Given the description of an element on the screen output the (x, y) to click on. 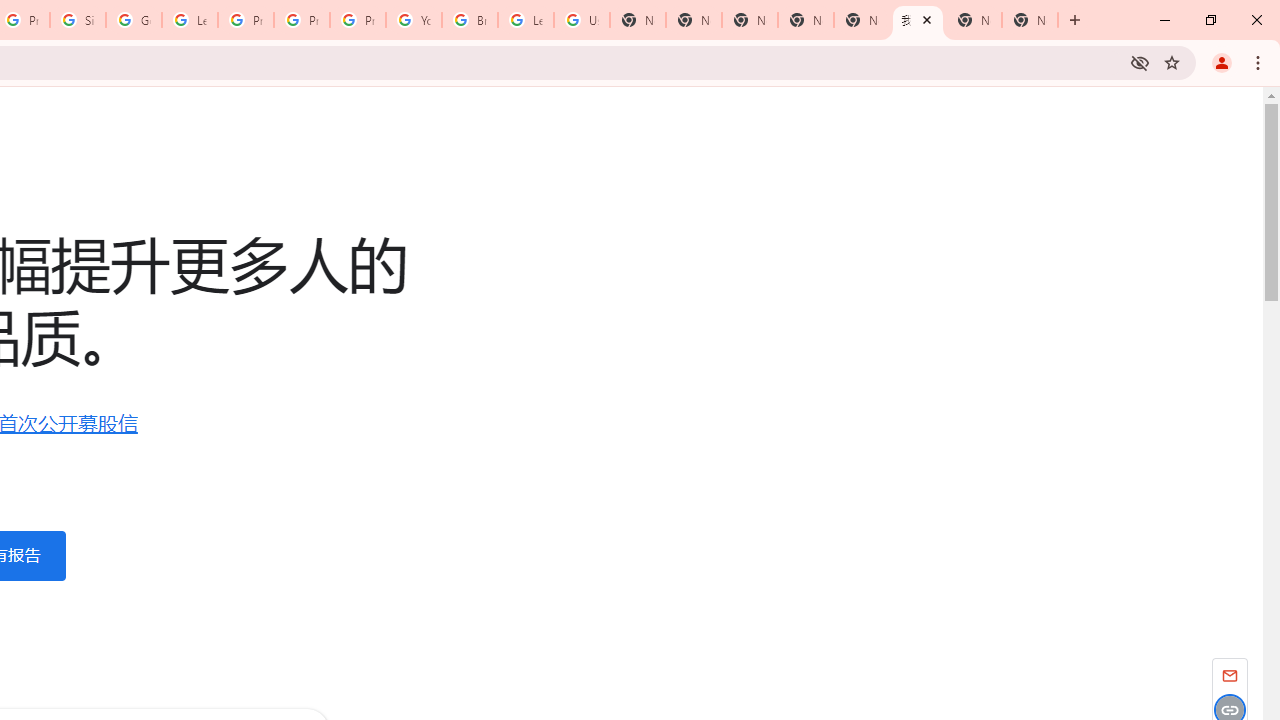
YouTube (413, 20)
Privacy Help Center - Policies Help (245, 20)
Sign in - Google Accounts (77, 20)
New Tab (1030, 20)
